Given the description of an element on the screen output the (x, y) to click on. 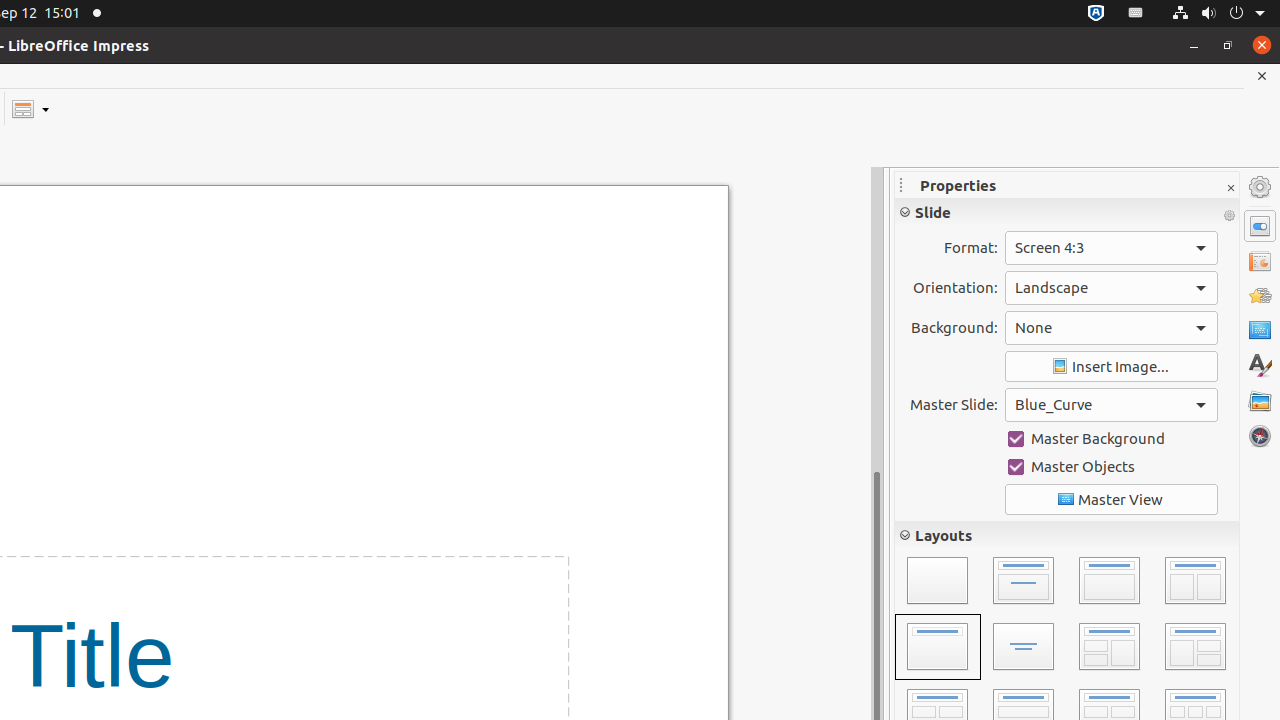
:1.72/StatusNotifierItem Element type: menu (1096, 13)
Gallery Element type: radio-button (1260, 401)
Numbering Element type: push-button (955, 680)
Master Slides Element type: radio-button (1260, 331)
Close Sidebar Deck Element type: push-button (1230, 188)
